Given the description of an element on the screen output the (x, y) to click on. 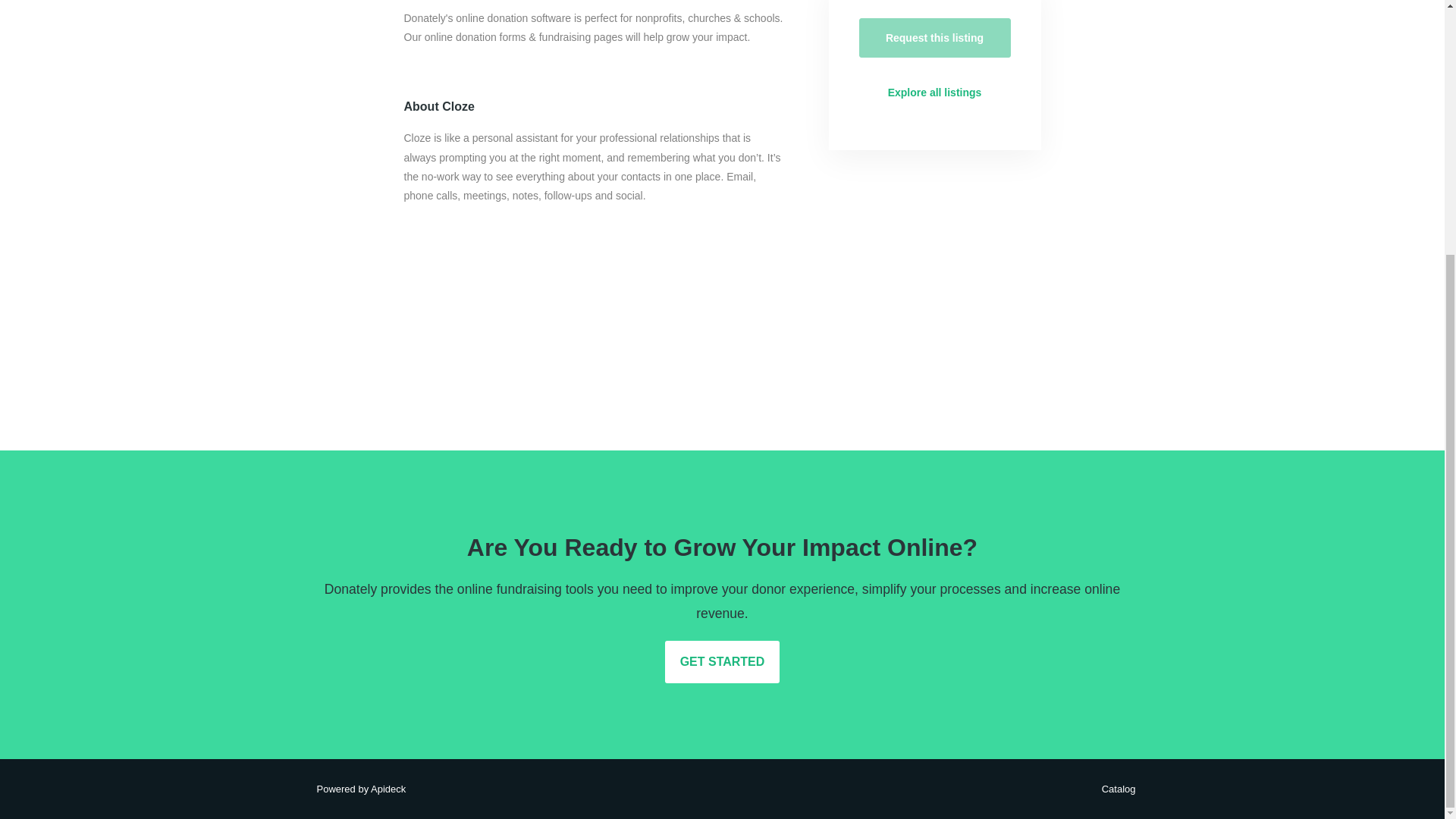
Explore all listings (934, 92)
Catalog (1115, 789)
Powered by Apideck (356, 789)
Request this listing (934, 37)
GET STARTED (722, 661)
